Given the description of an element on the screen output the (x, y) to click on. 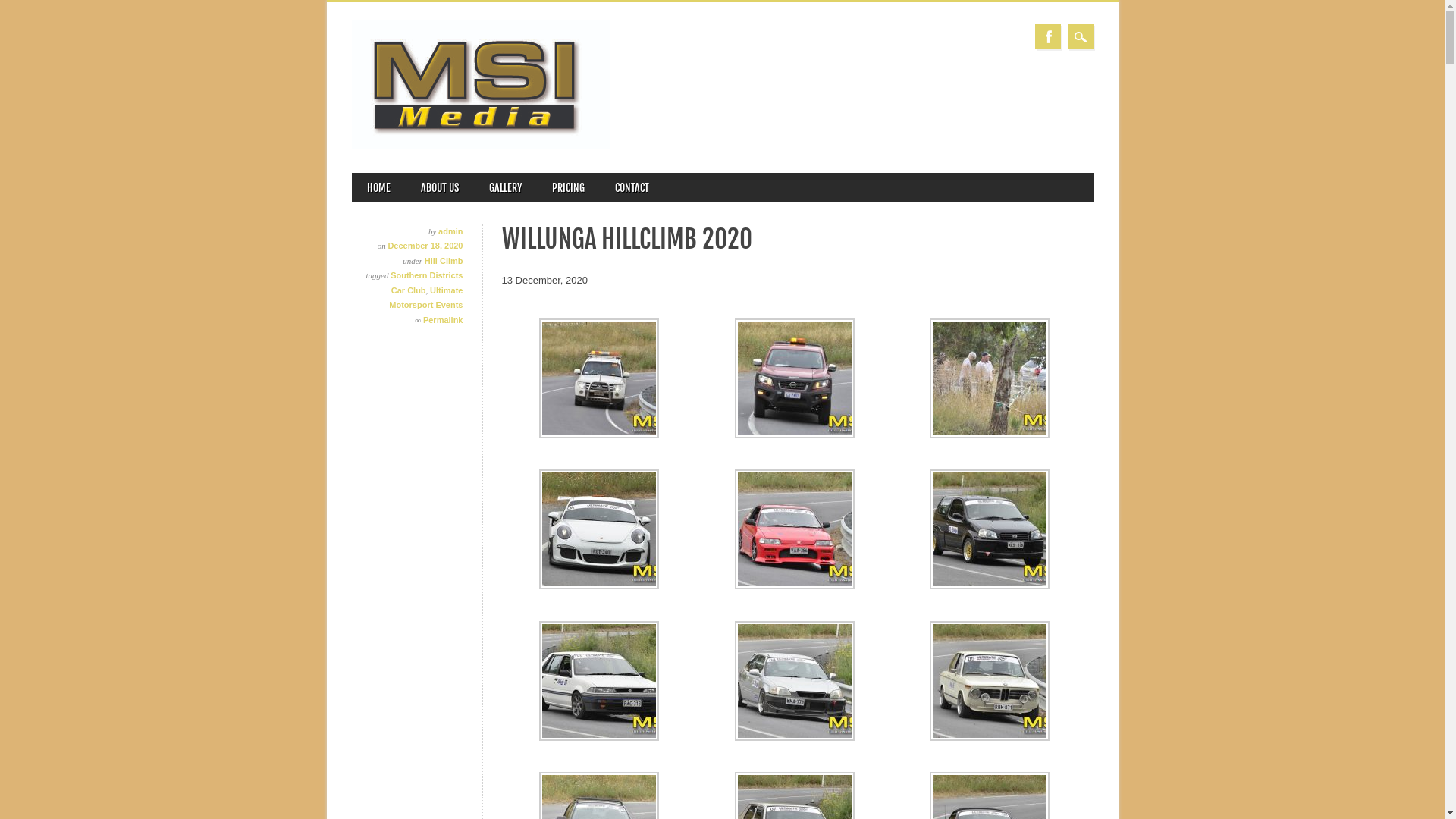
Skip to content Element type: text (384, 179)
PRICING Element type: text (567, 187)
CONTACT Element type: text (631, 187)
December 18, 2020 Element type: text (424, 245)
Southern Districts Car Club Element type: text (426, 282)
HOME Element type: text (378, 187)
MSI Media Element type: hover (480, 145)
Hill Climb Element type: text (443, 260)
GALLERY Element type: text (504, 187)
Permalink Element type: text (443, 319)
admin Element type: text (450, 230)
Facebook Element type: text (1047, 36)
Ultimate Motorsport Events Element type: text (425, 297)
ABOUT US Element type: text (438, 187)
